Given the description of an element on the screen output the (x, y) to click on. 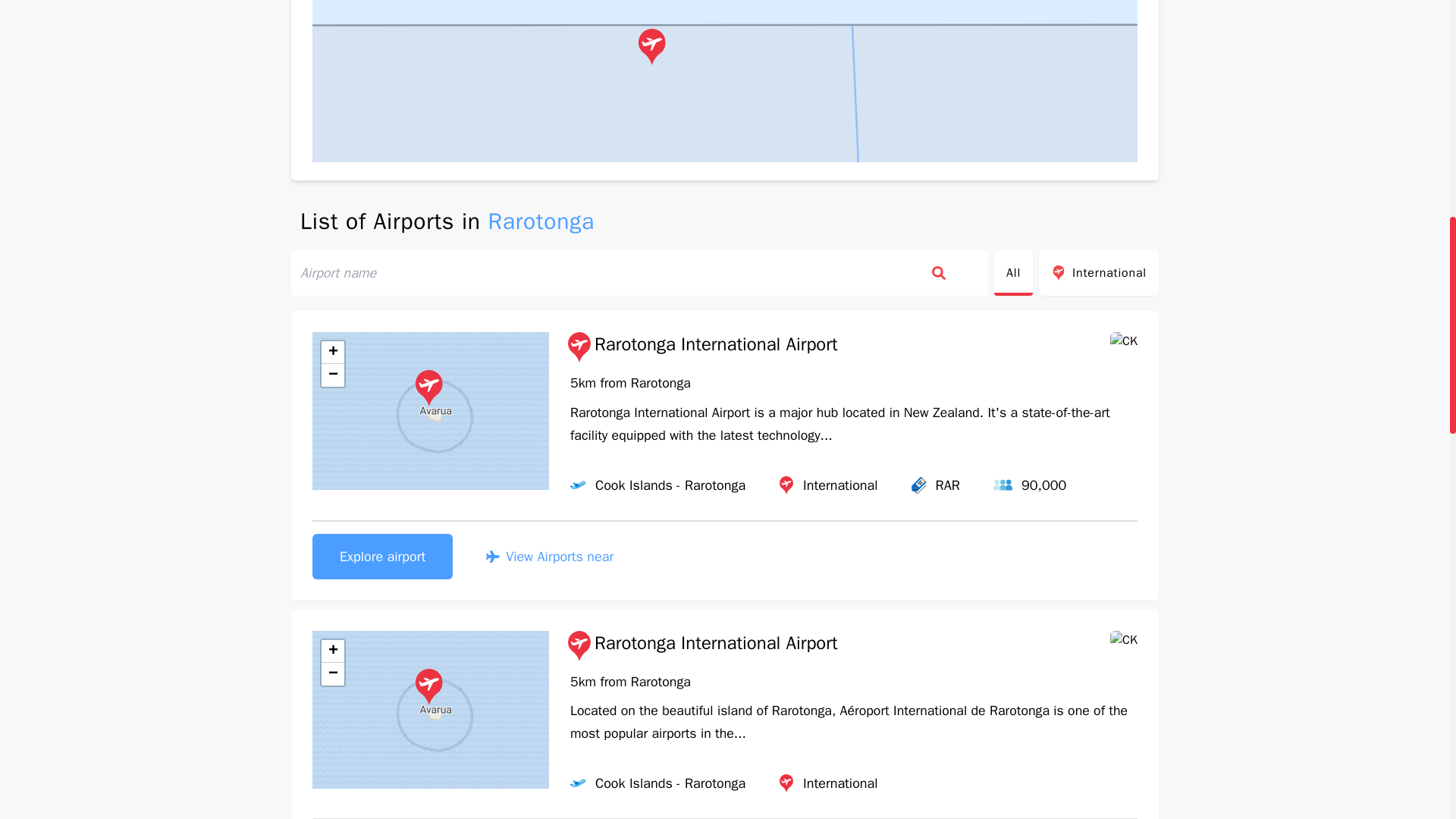
Zoom out (332, 374)
Zoom in (332, 352)
Zoom out (332, 673)
Rarotonga International Airport (701, 347)
View Airports near (549, 556)
International (1098, 272)
Zoom in (332, 650)
Explore airport (382, 556)
